Given the description of an element on the screen output the (x, y) to click on. 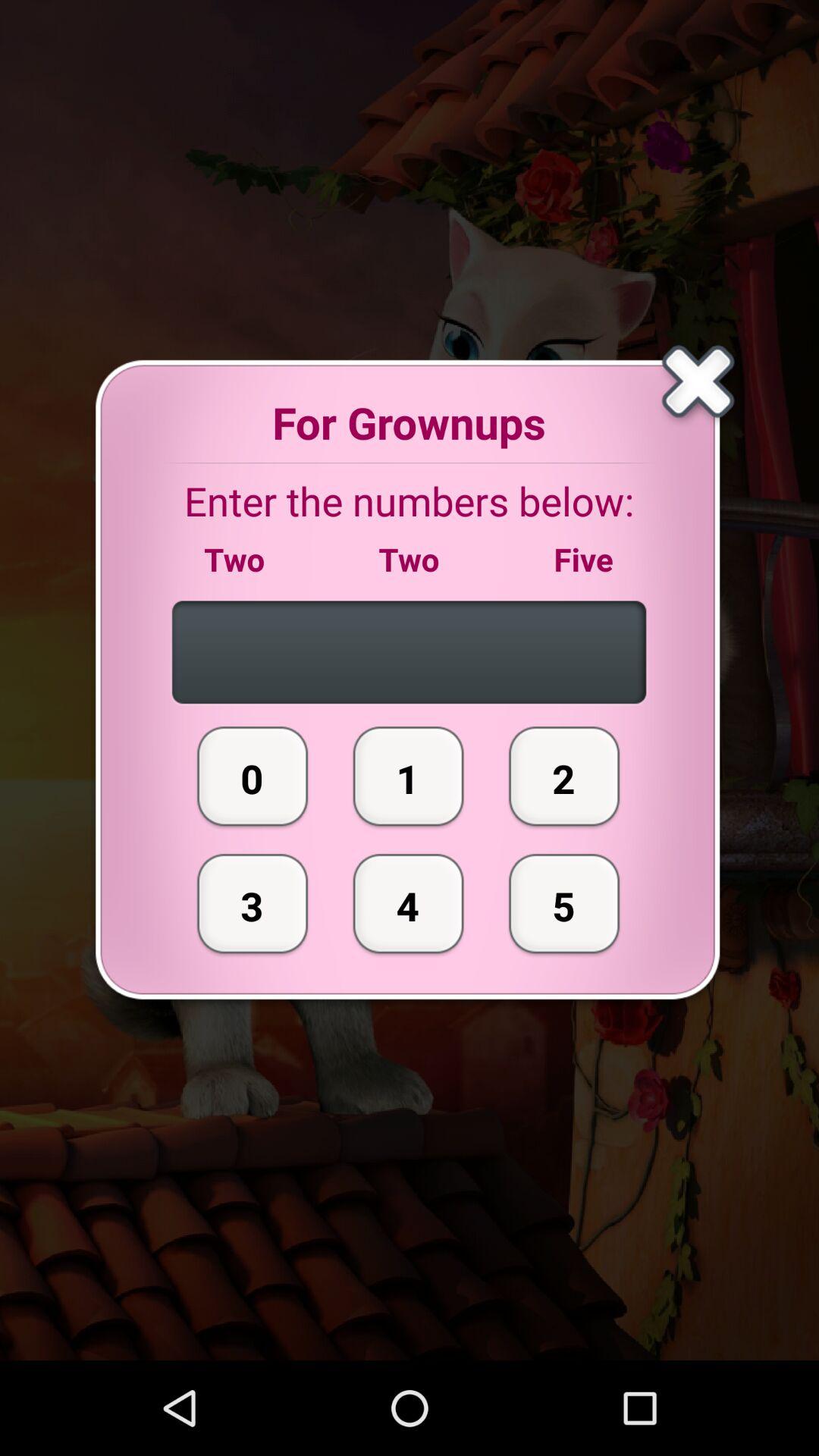
jump to the 0 item (252, 776)
